Given the description of an element on the screen output the (x, y) to click on. 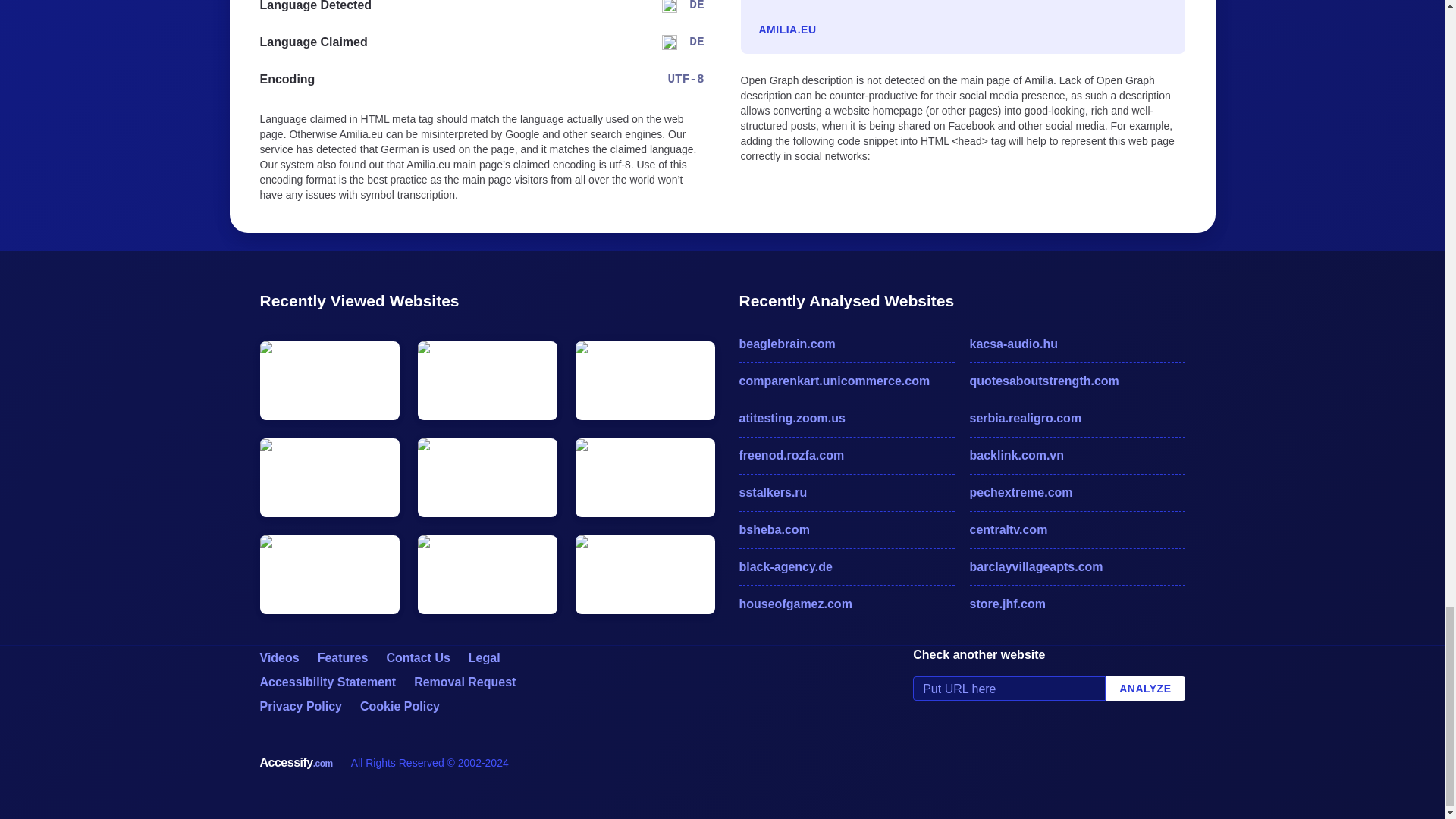
Legal (484, 657)
black-agency.de (845, 566)
Videos (278, 657)
Screencasts: video tutorials and guides (278, 657)
barclayvillageapts.com (1077, 566)
kacsa-audio.hu (1077, 343)
freenod.rozfa.com (845, 455)
centraltv.com (1077, 529)
pechextreme.com (1077, 493)
